Given the description of an element on the screen output the (x, y) to click on. 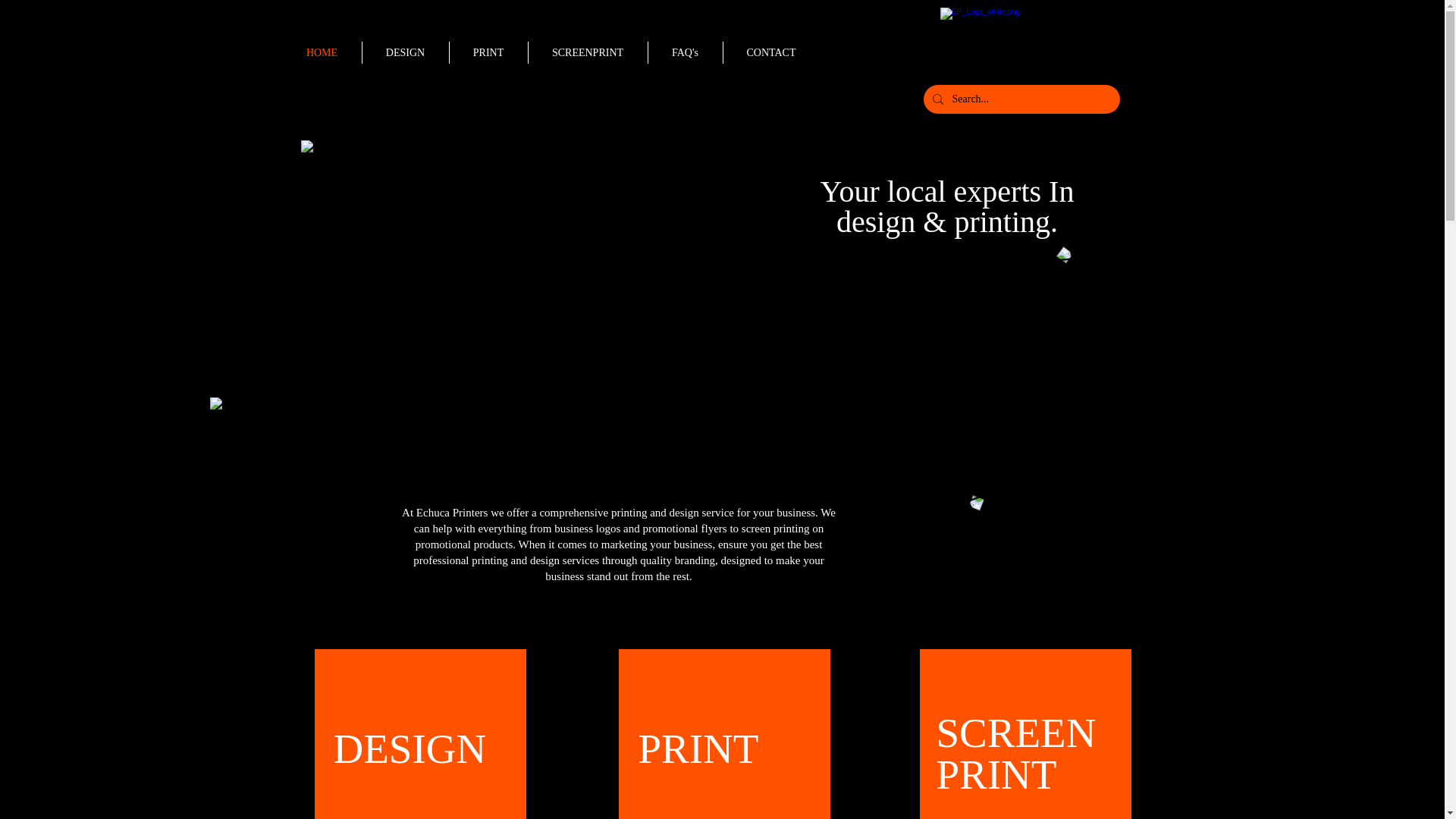
DESIGN Element type: text (405, 52)
HOME Element type: text (321, 52)
CONTACT Element type: text (771, 52)
FAQ's Element type: text (684, 52)
PRINT Element type: text (487, 52)
PRINT Element type: text (698, 748)
SCREENPRINT Element type: text (1015, 753)
DESIGN Element type: text (409, 748)
SCREENPRINT Element type: text (586, 52)
